Given the description of an element on the screen output the (x, y) to click on. 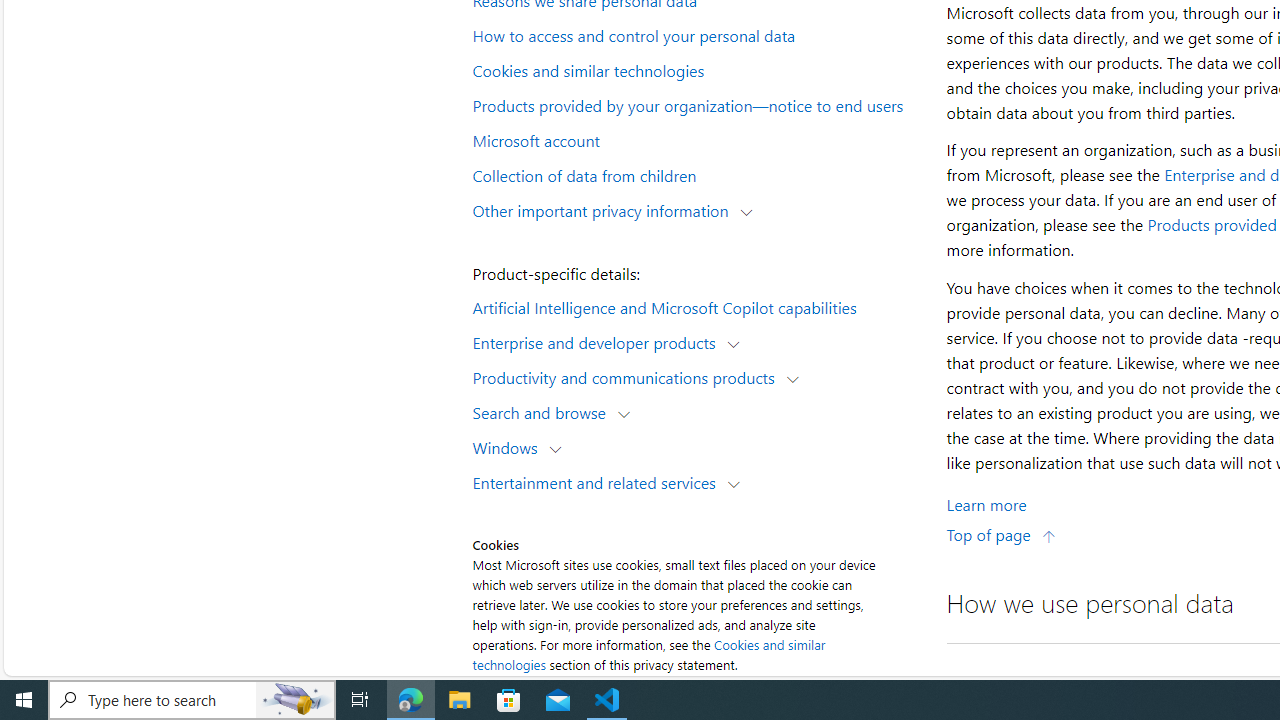
Windows (509, 446)
Other important privacy information (605, 209)
How to access and control your personal data (696, 35)
Search and browse (543, 412)
Cookies and similar technologies (648, 654)
Productivity and communications products (628, 376)
Entertainment and related services (598, 481)
Top of page (1001, 534)
Artificial Intelligence and Microsoft Copilot capabilities (696, 306)
Collection of data from children (696, 174)
Learn More about Personal data we collect (985, 504)
Microsoft account (696, 139)
Enterprise and developer products (598, 341)
